Given the description of an element on the screen output the (x, y) to click on. 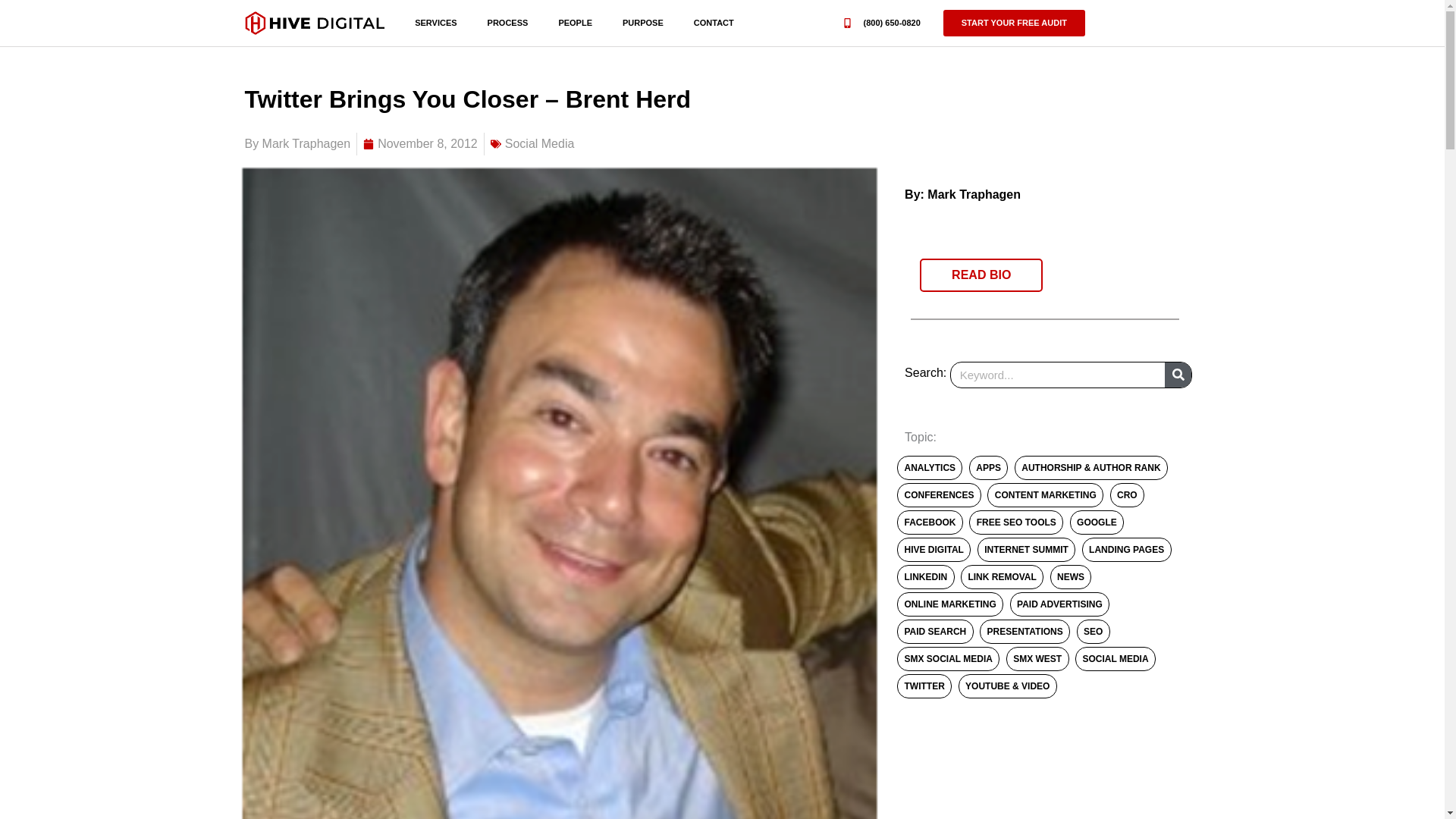
PEOPLE (575, 22)
CONTACT (713, 22)
Social Media (540, 143)
PURPOSE (642, 22)
By Mark Traphagen (297, 143)
START YOUR FREE AUDIT (1013, 22)
November 8, 2012 (419, 143)
SERVICES (434, 22)
PROCESS (507, 22)
